Given the description of an element on the screen output the (x, y) to click on. 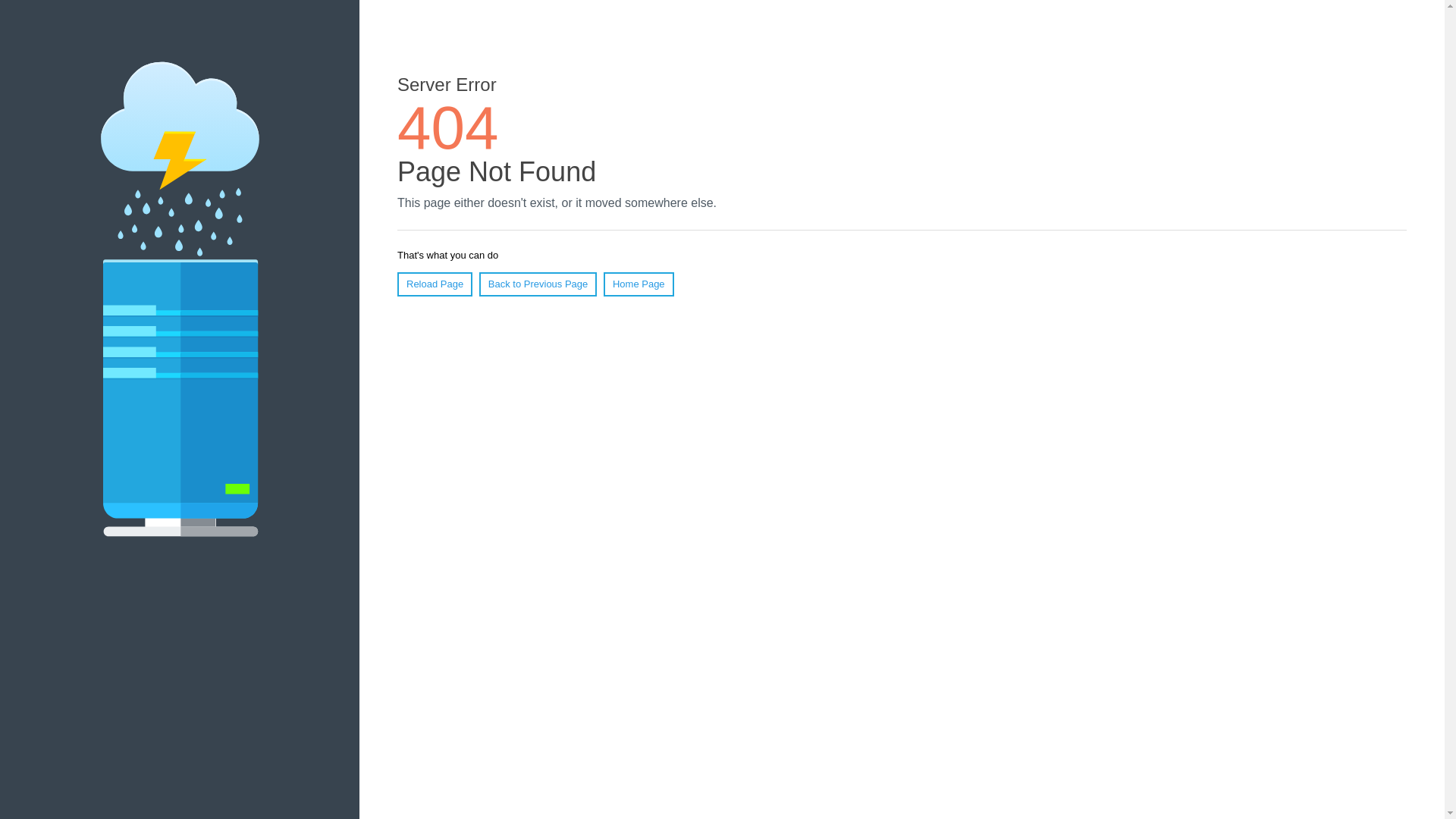
Reload Page Element type: text (434, 284)
Back to Previous Page Element type: text (538, 284)
Home Page Element type: text (638, 284)
